Given the description of an element on the screen output the (x, y) to click on. 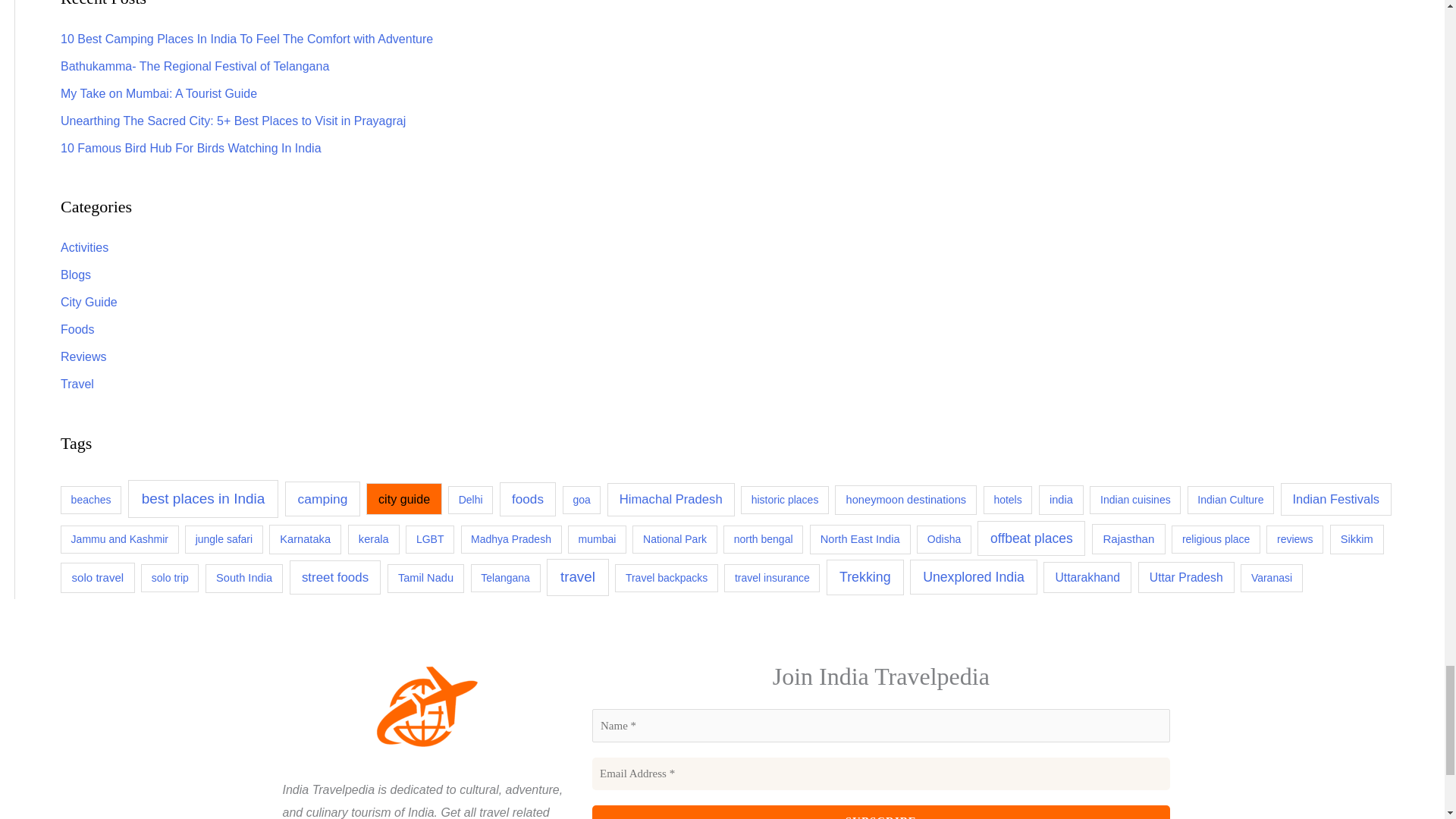
Travel (77, 383)
Activities (84, 246)
City Guide (89, 301)
My Take on Mumbai: A Tourist Guide (159, 92)
Reviews (83, 356)
Name (881, 725)
SUBSCRIBE (881, 811)
Foods (77, 328)
10 Famous Bird Hub For Birds Watching In India (191, 147)
